Given the description of an element on the screen output the (x, y) to click on. 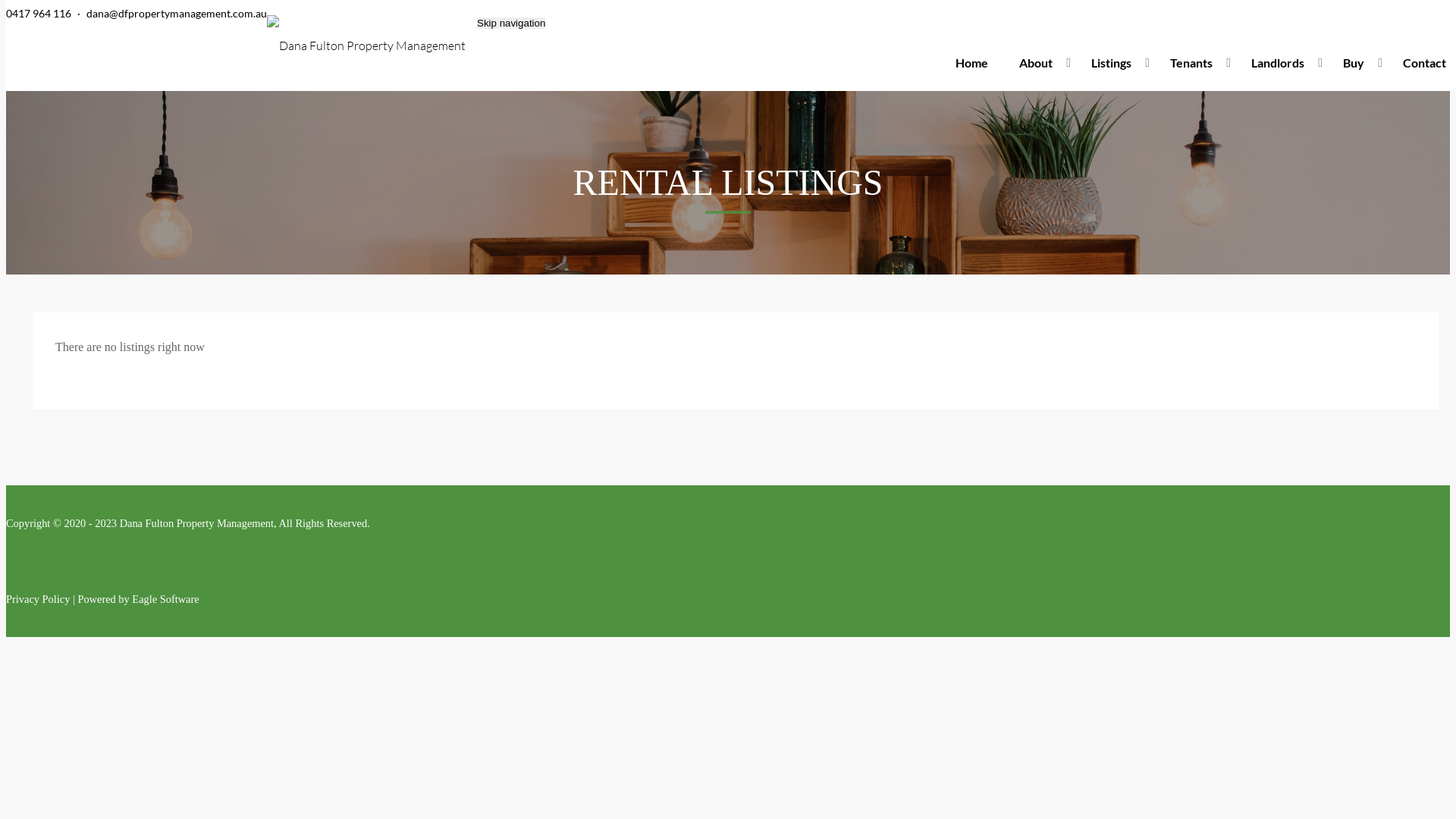
Privacy Policy Element type: text (37, 599)
Tenants Element type: text (1194, 62)
Eagle Software Element type: text (164, 599)
Buy Element type: text (1356, 62)
dana@dfpropertymanagement.com.au Element type: text (176, 12)
Skip navigation Element type: text (510, 22)
Listings Element type: text (1115, 62)
0417 964 116 Element type: text (38, 12)
Landlords Element type: text (1281, 62)
Home Element type: text (971, 62)
About Element type: text (1039, 62)
